Given the description of an element on the screen output the (x, y) to click on. 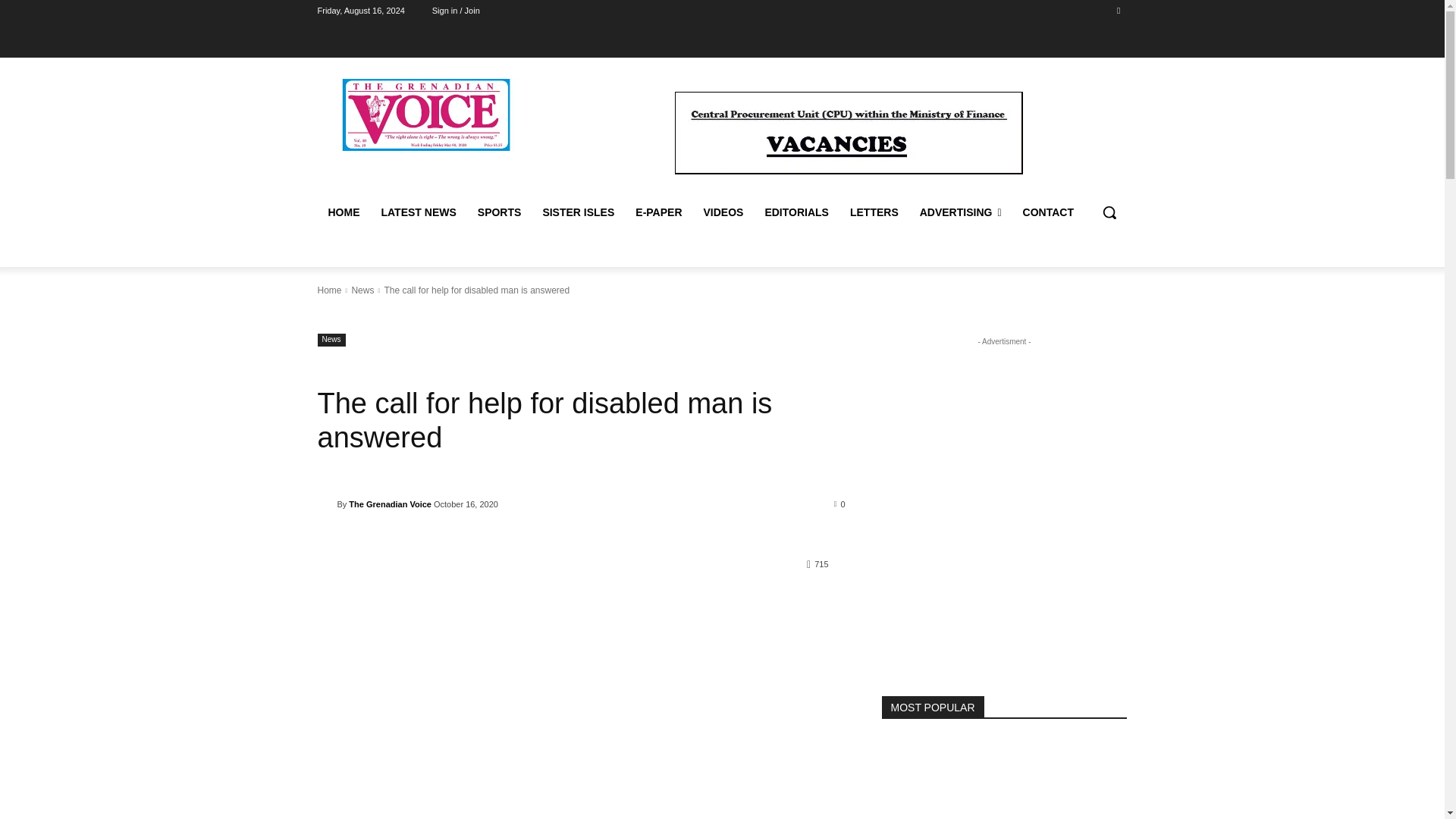
LATEST NEWS (417, 212)
VIDEOS (723, 212)
E-PAPER (658, 212)
SISTER ISLES (577, 212)
EDITORIALS (797, 212)
SPORTS (499, 212)
ADVERTISING (959, 212)
LETTERS (874, 212)
Facebook (1117, 9)
HOME (343, 212)
